Given the description of an element on the screen output the (x, y) to click on. 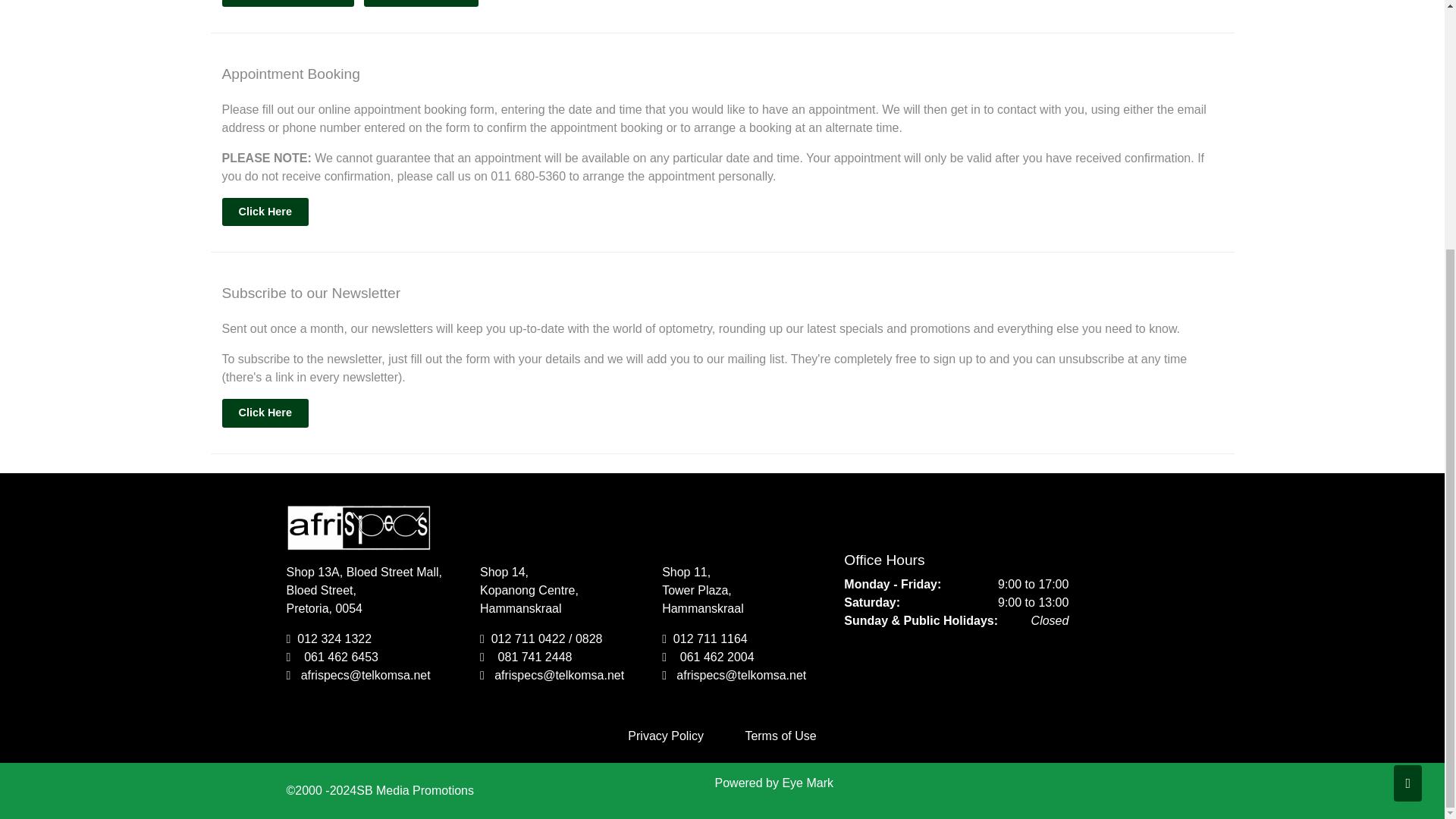
Eye Mark (806, 782)
Patient Information Form (287, 3)
Online Submission (287, 3)
Printer Friendly (420, 3)
Newsletter Subscription (264, 412)
Appointment Booking Form (264, 212)
Click Here (264, 212)
Click Here (264, 412)
Patient Information Form - Printer Friendly (420, 3)
